Given the description of an element on the screen output the (x, y) to click on. 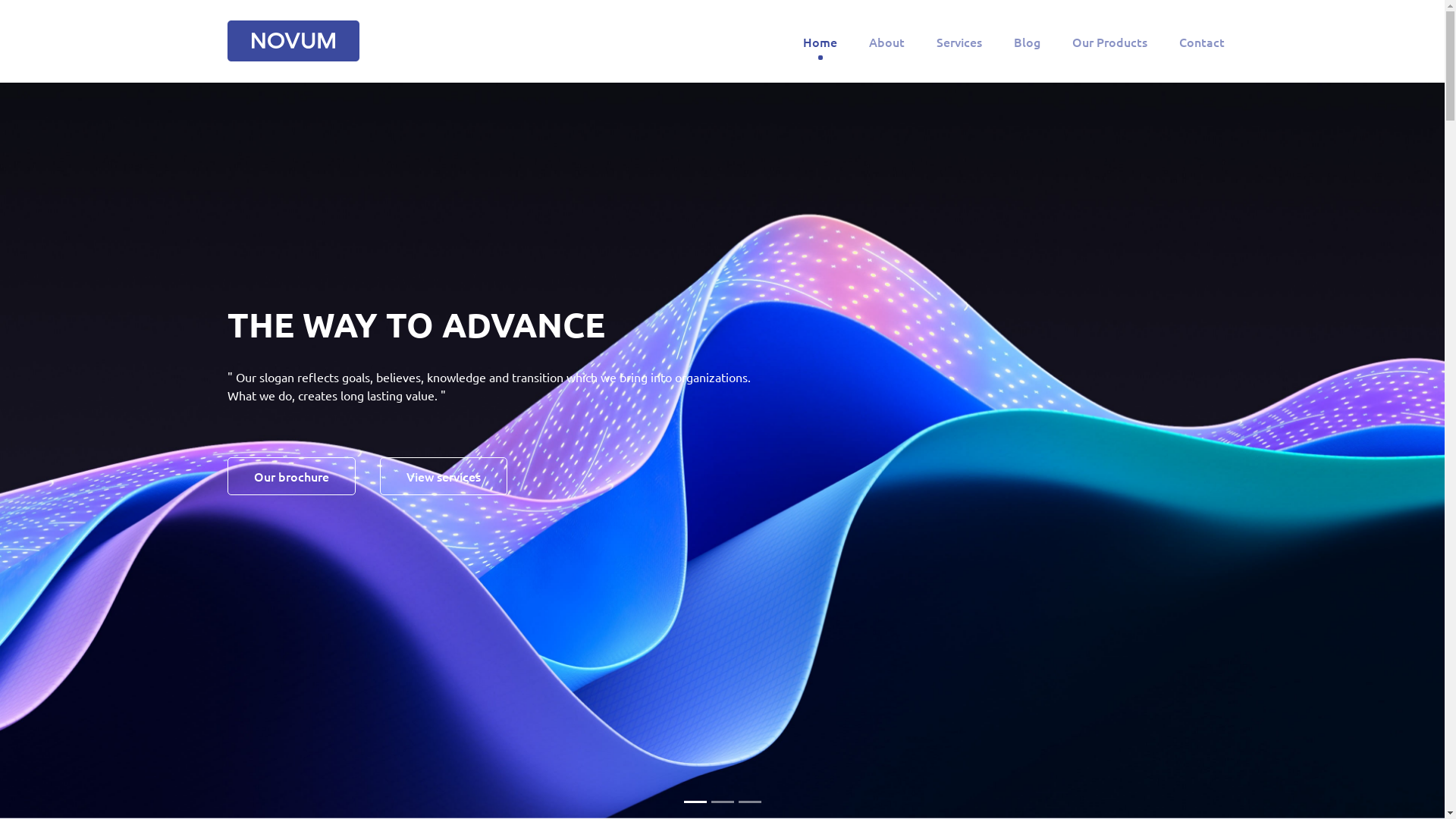
Our brochure Element type: text (291, 476)
Home Element type: text (819, 41)
Contact Element type: text (1201, 41)
About Element type: text (886, 41)
Our Products Element type: text (1109, 41)
Services Element type: text (958, 41)
View services Element type: text (443, 476)
Blog Element type: text (1027, 41)
